Given the description of an element on the screen output the (x, y) to click on. 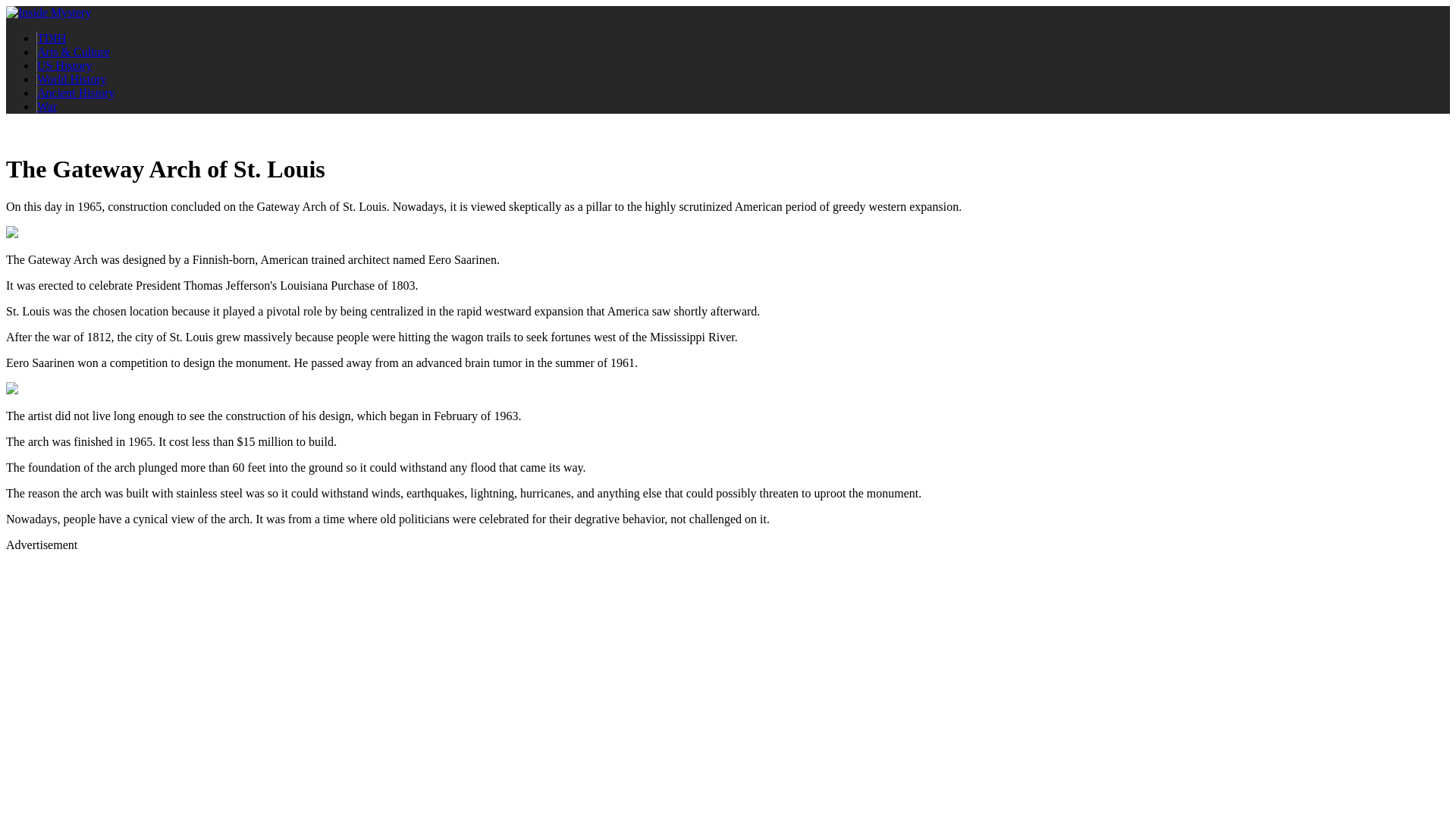
World History (71, 78)
War (46, 106)
Ancient History (75, 92)
US History (63, 65)
TDIH (50, 38)
